Given the description of an element on the screen output the (x, y) to click on. 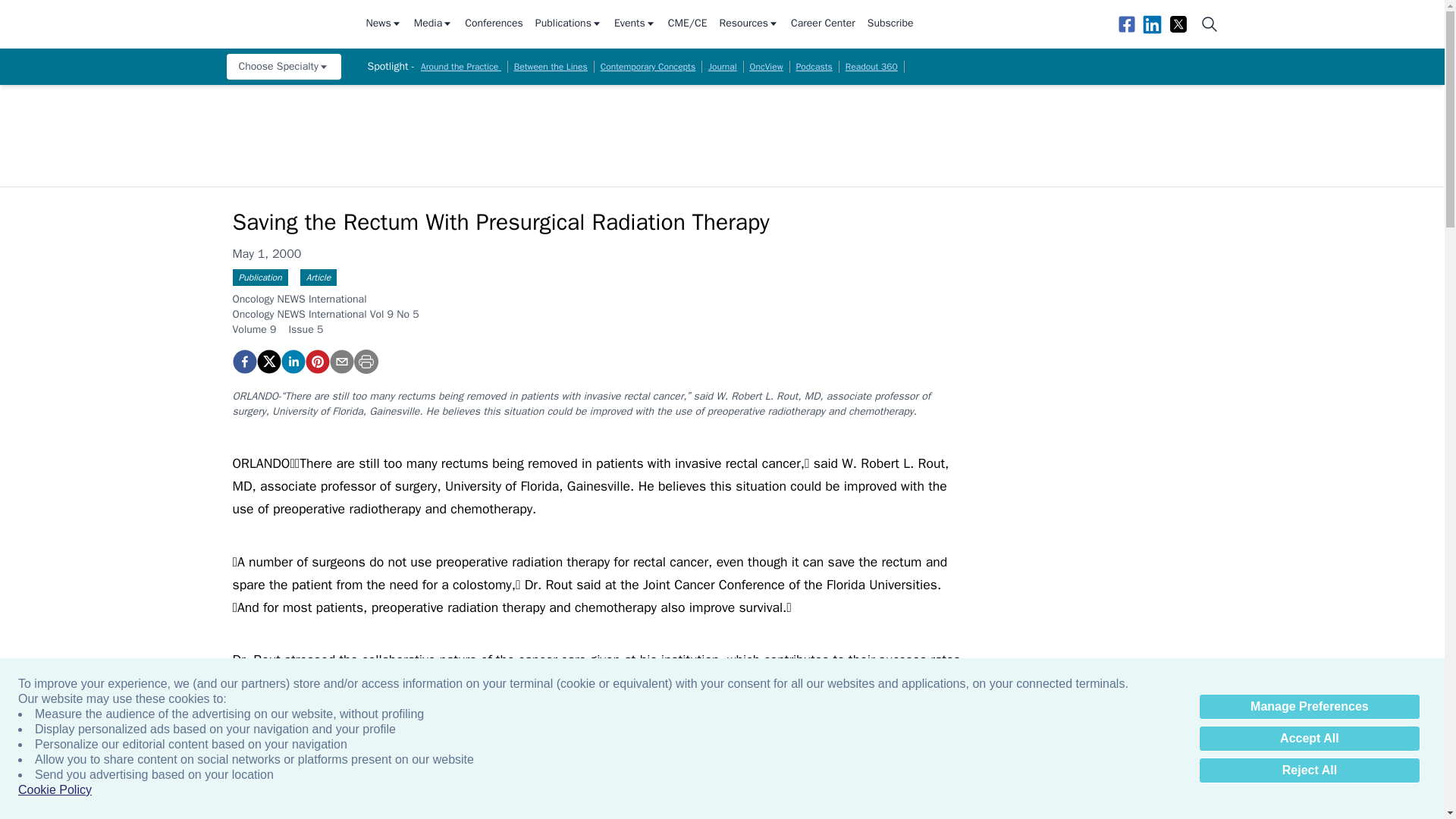
Cookie Policy (54, 789)
Manage Preferences (1309, 706)
Events (635, 23)
Resources (748, 23)
Reject All (1309, 769)
Conferences (493, 23)
Media (432, 23)
Saving the Rectum With Presurgical Radiation Therapy (316, 361)
Saving the Rectum With Presurgical Radiation Therapy (243, 361)
Accept All (1309, 738)
